Given the description of an element on the screen output the (x, y) to click on. 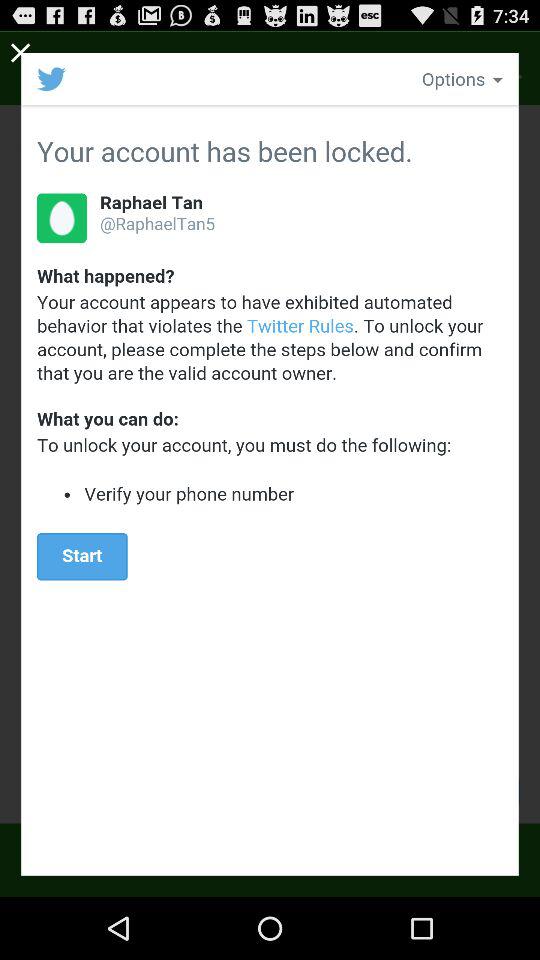
close window (21, 52)
